Given the description of an element on the screen output the (x, y) to click on. 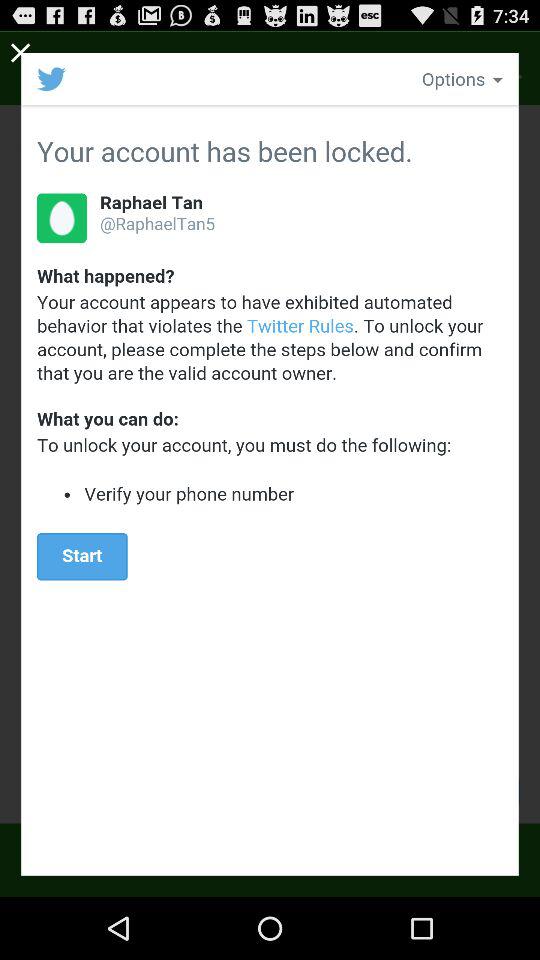
close window (21, 52)
